Given the description of an element on the screen output the (x, y) to click on. 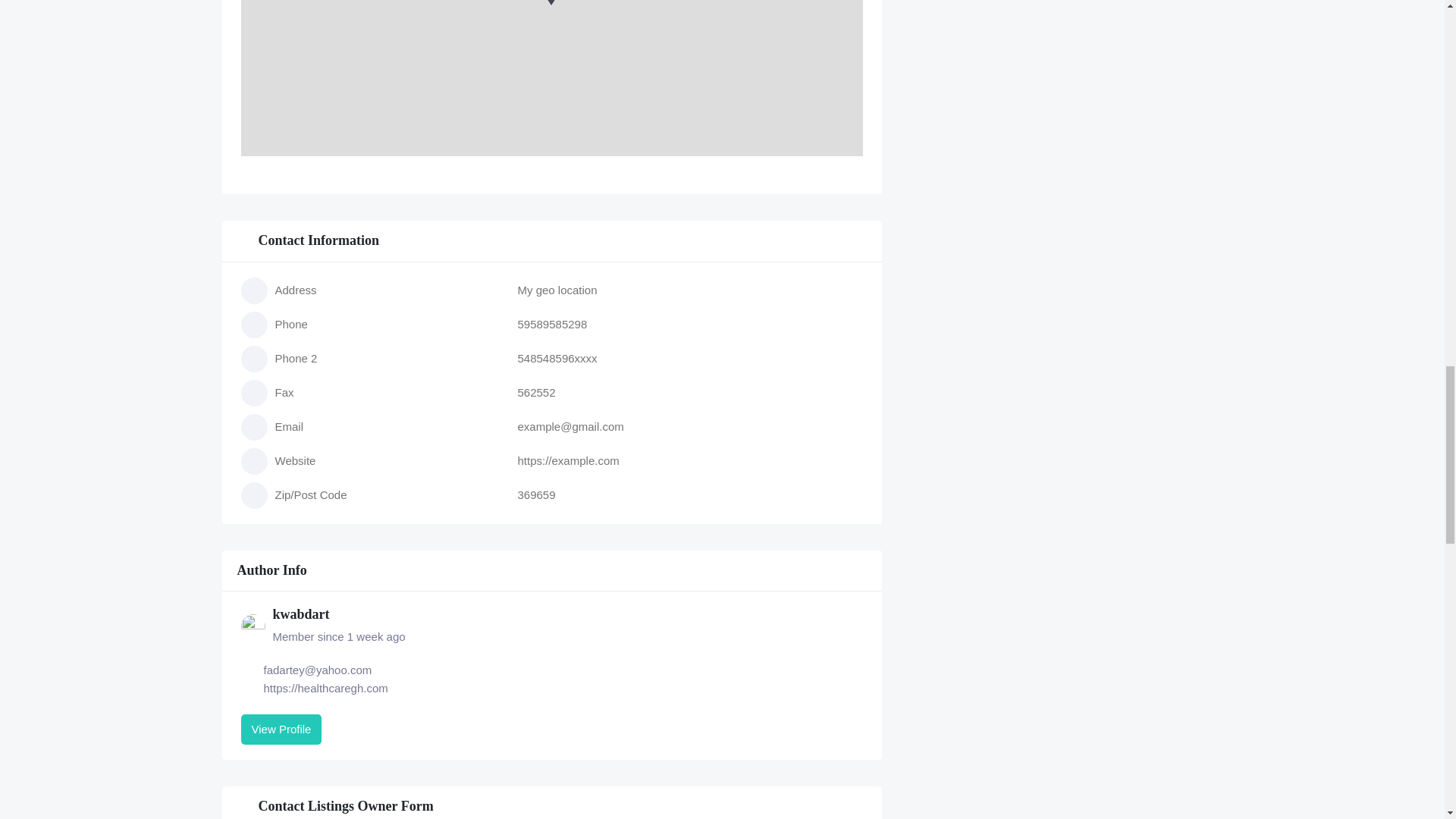
59589585298 (551, 323)
View Profile (281, 729)
548548596xxxx (556, 358)
562552 (535, 391)
